Given the description of an element on the screen output the (x, y) to click on. 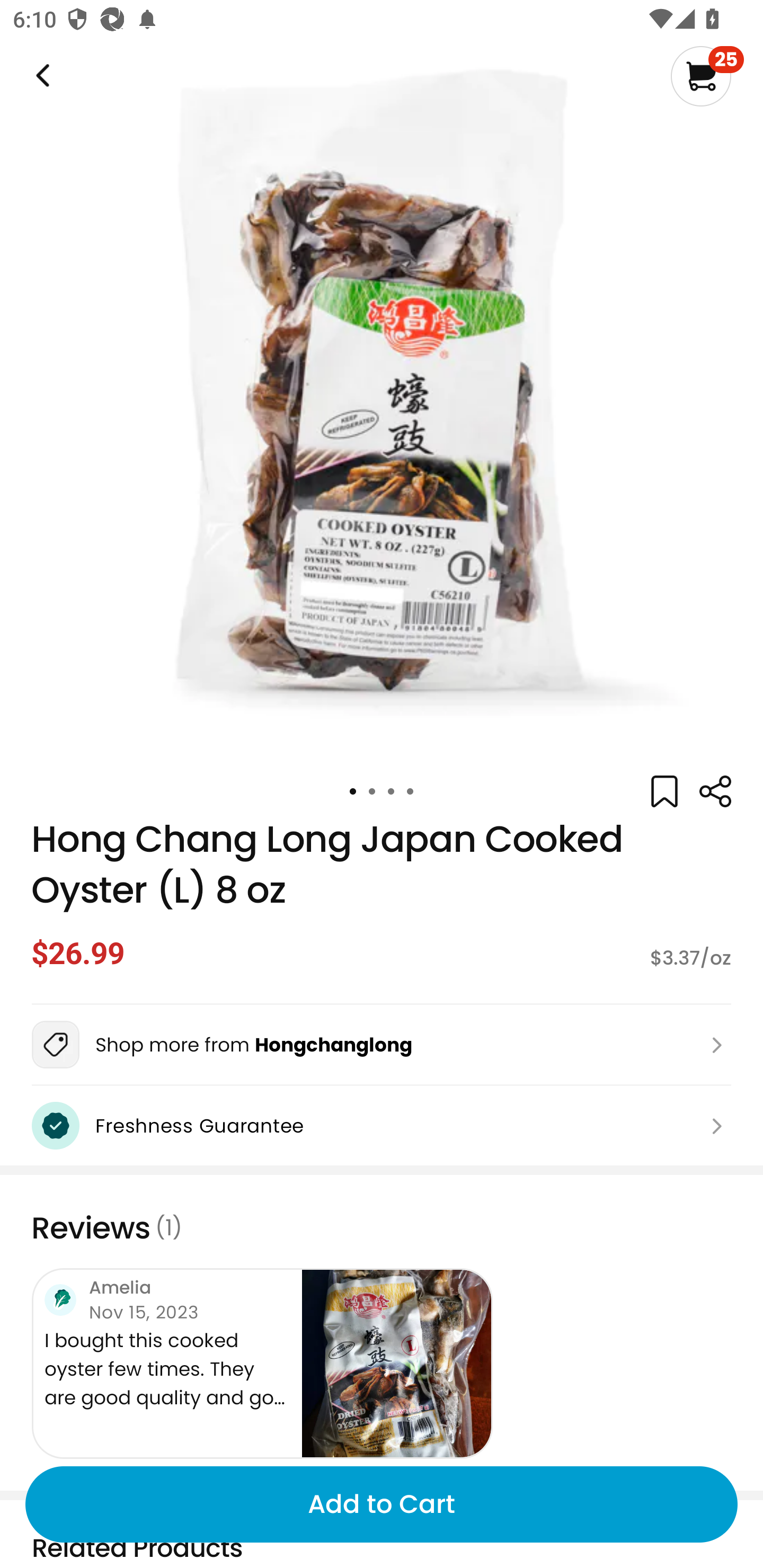
Weee! (41, 75)
25 (706, 75)
Weee! (714, 791)
Shop more from Hongchanglong Weee! (381, 1045)
Freshness Guarantee (381, 1125)
Reviews (1) (381, 1228)
Add to Cart (381, 1504)
Add to Cart (381, 1504)
